Given the description of an element on the screen output the (x, y) to click on. 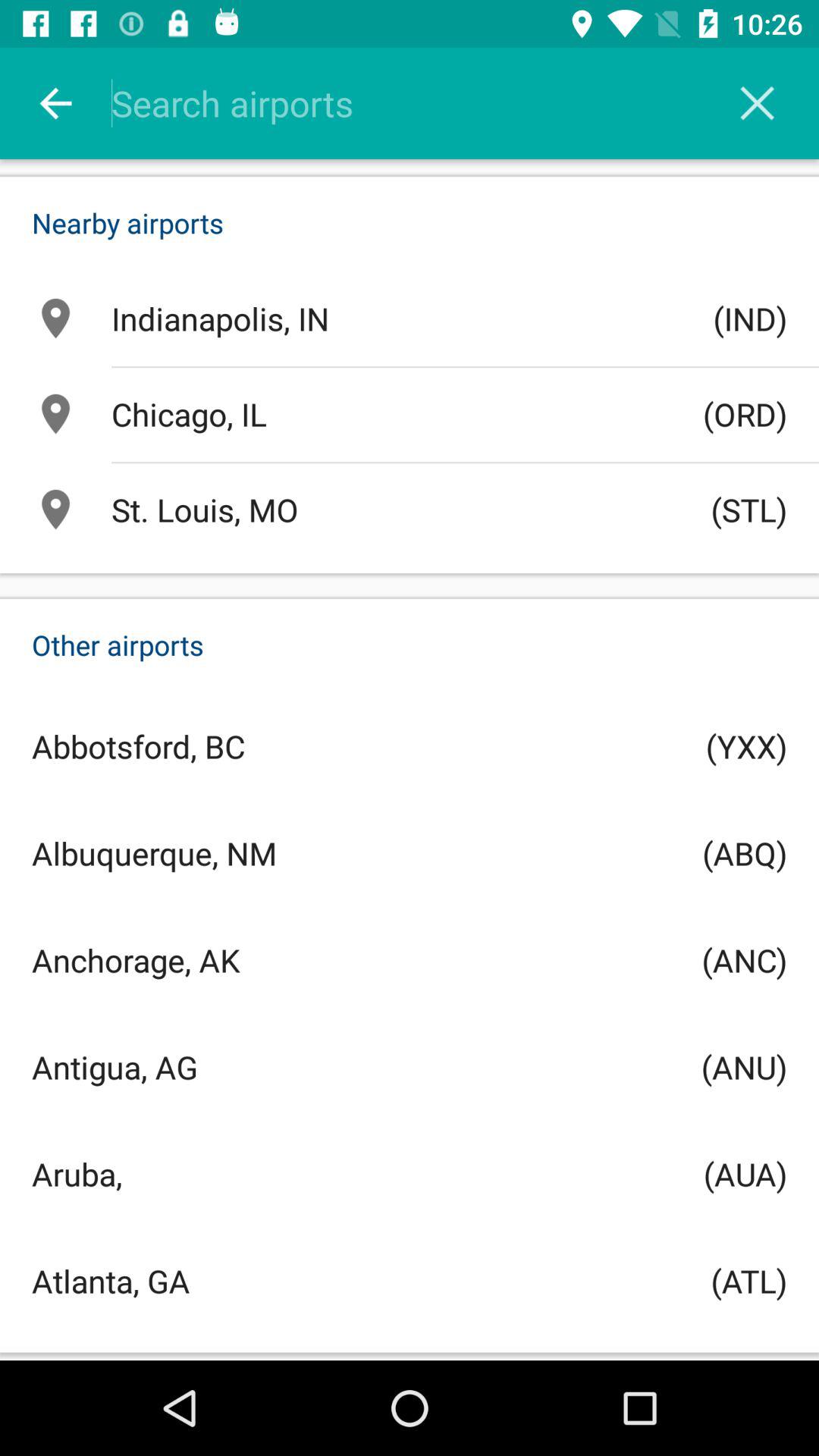
click the item above nearby airports icon (757, 103)
